Given the description of an element on the screen output the (x, y) to click on. 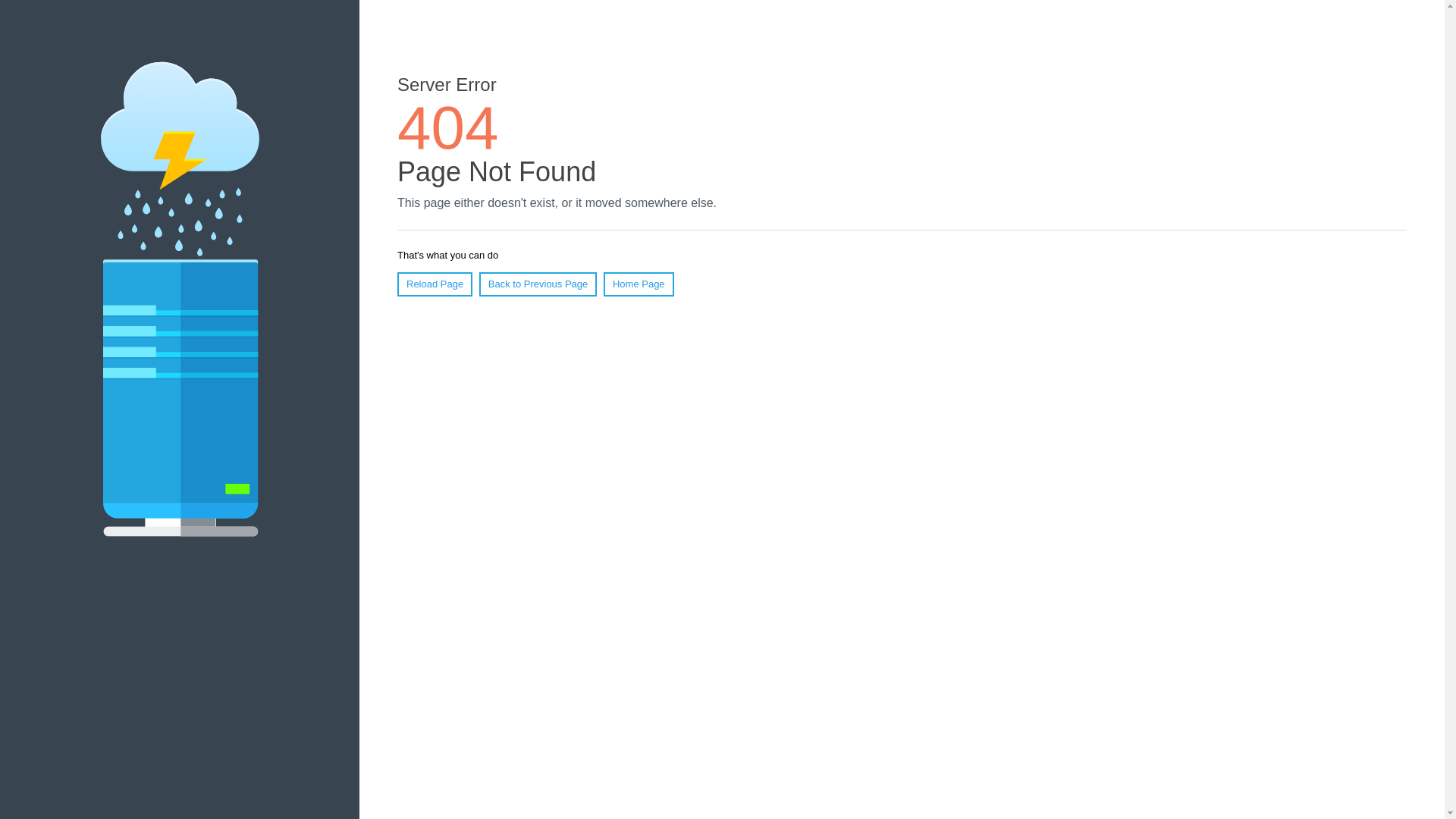
Reload Page Element type: text (434, 284)
Back to Previous Page Element type: text (538, 284)
Home Page Element type: text (638, 284)
